Given the description of an element on the screen output the (x, y) to click on. 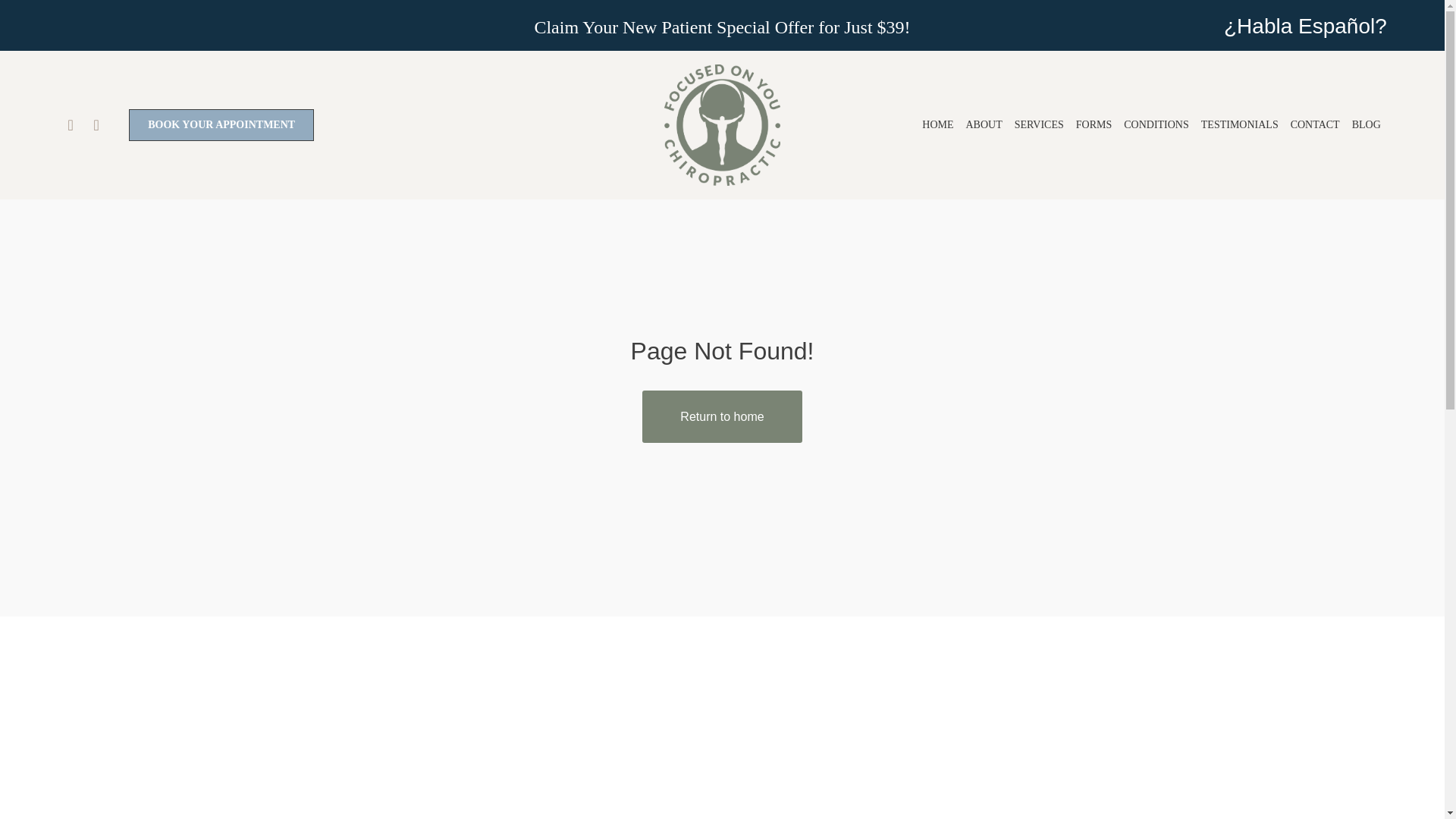
ABOUT (984, 125)
CONDITIONS (1156, 125)
SERVICES (1039, 125)
CONTACT (1314, 125)
HOME (937, 125)
BOOK YOUR APPOINTMENT (221, 124)
TESTIMONIALS (1239, 125)
FORMS (1094, 125)
BLOG (1366, 125)
